Given the description of an element on the screen output the (x, y) to click on. 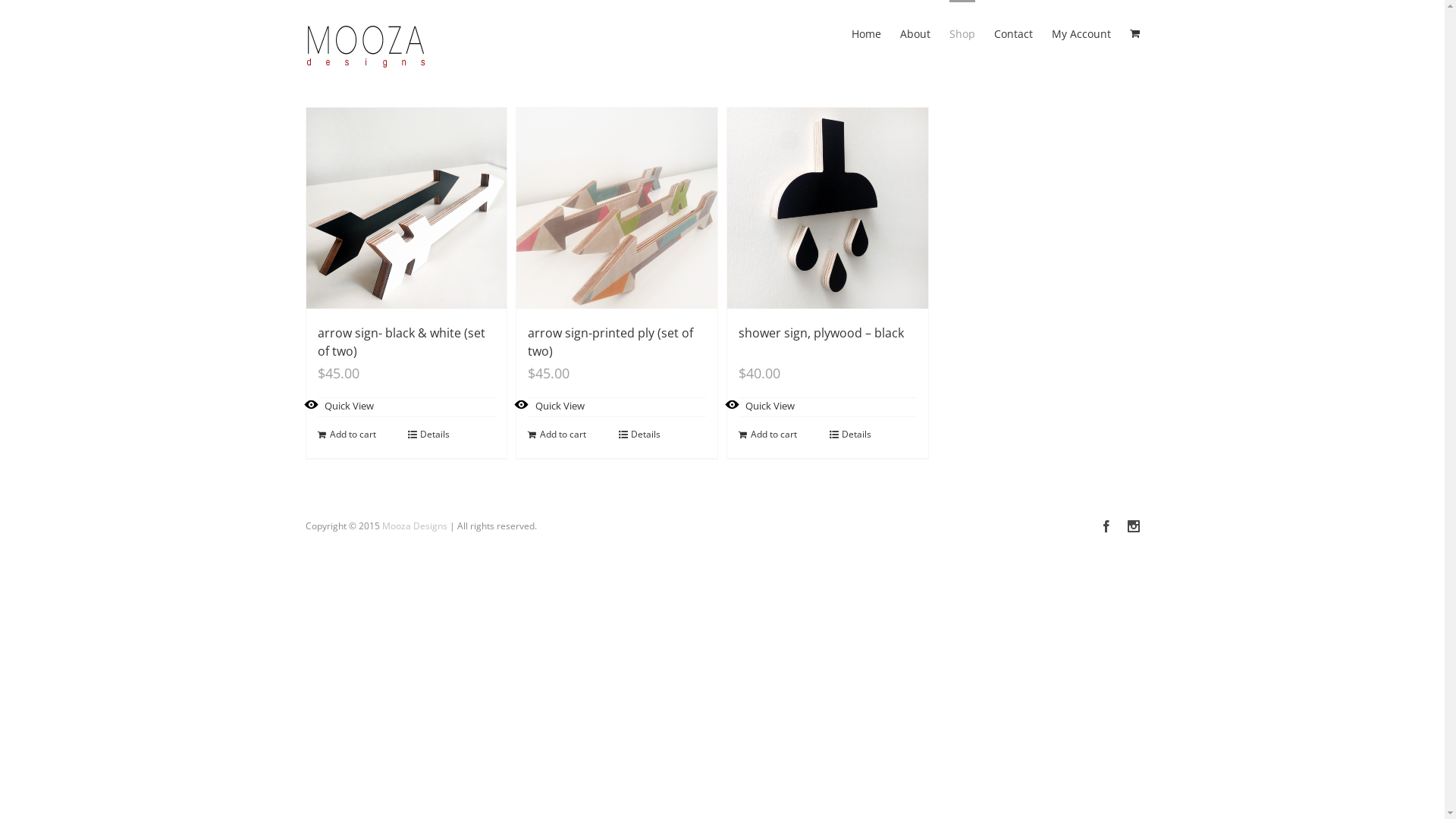
Mooza Designs Element type: text (414, 525)
Details Element type: text (662, 434)
Add to cart Element type: text (781, 434)
Details Element type: text (872, 434)
Quick View Element type: text (339, 405)
arrow sign- black & white (set of two) Element type: text (400, 341)
Contact Element type: text (1012, 32)
Add to cart Element type: text (571, 434)
Instagram Element type: hover (1132, 526)
Quick View Element type: text (760, 405)
Details Element type: text (451, 434)
Quick View Element type: text (549, 405)
arrow sign-printed ply (set of two) Element type: text (610, 341)
My Account Element type: text (1080, 32)
Shop Element type: text (962, 32)
About Element type: text (914, 32)
Facebook Element type: hover (1105, 526)
Add to cart Element type: text (360, 434)
Log In Element type: text (1075, 181)
Home Element type: text (865, 32)
